Given the description of an element on the screen output the (x, y) to click on. 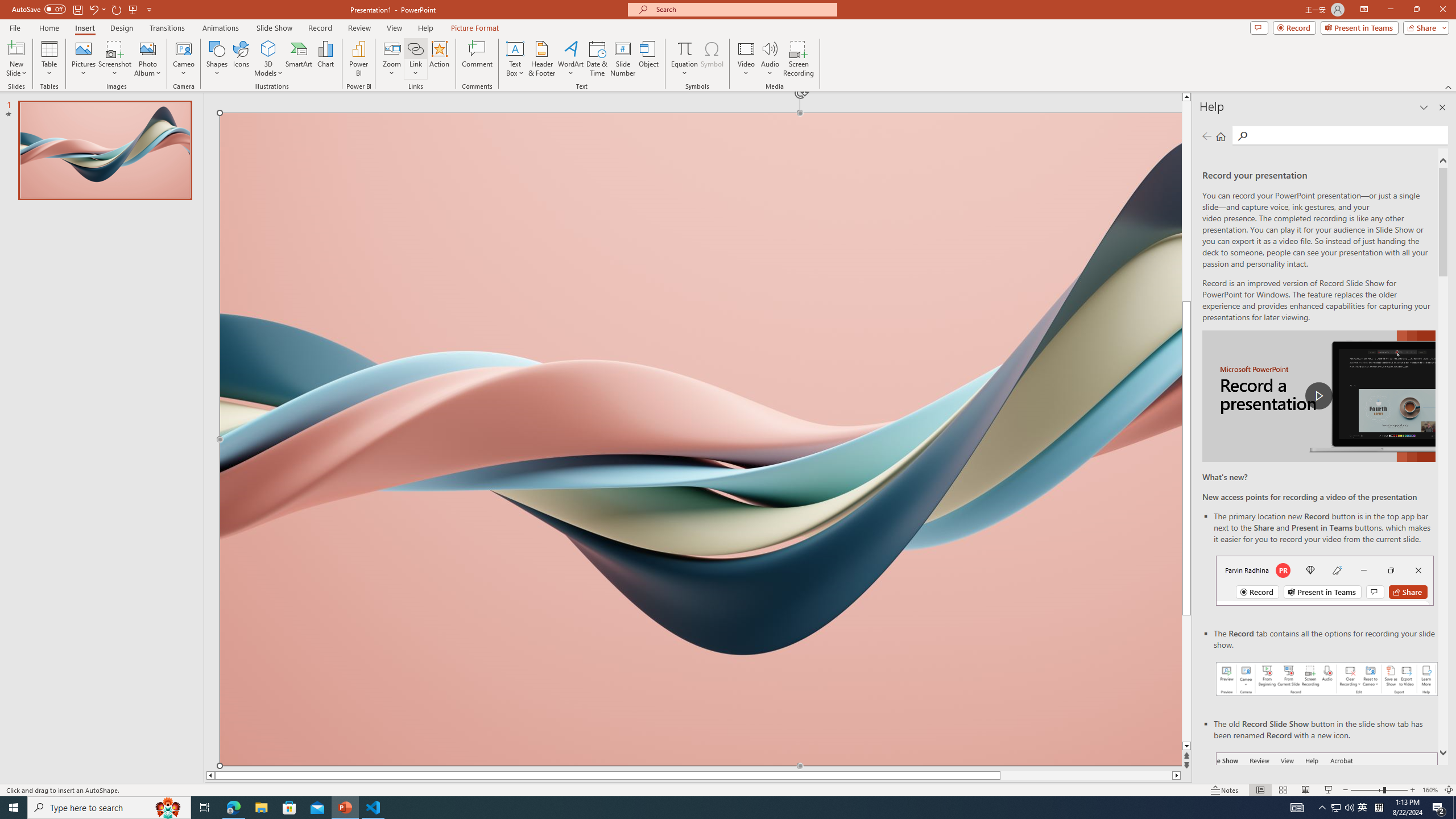
Date & Time... (596, 58)
Zoom 160% (1430, 790)
Photo Album... (147, 58)
Comment (476, 58)
WordArt (570, 58)
